Given the description of an element on the screen output the (x, y) to click on. 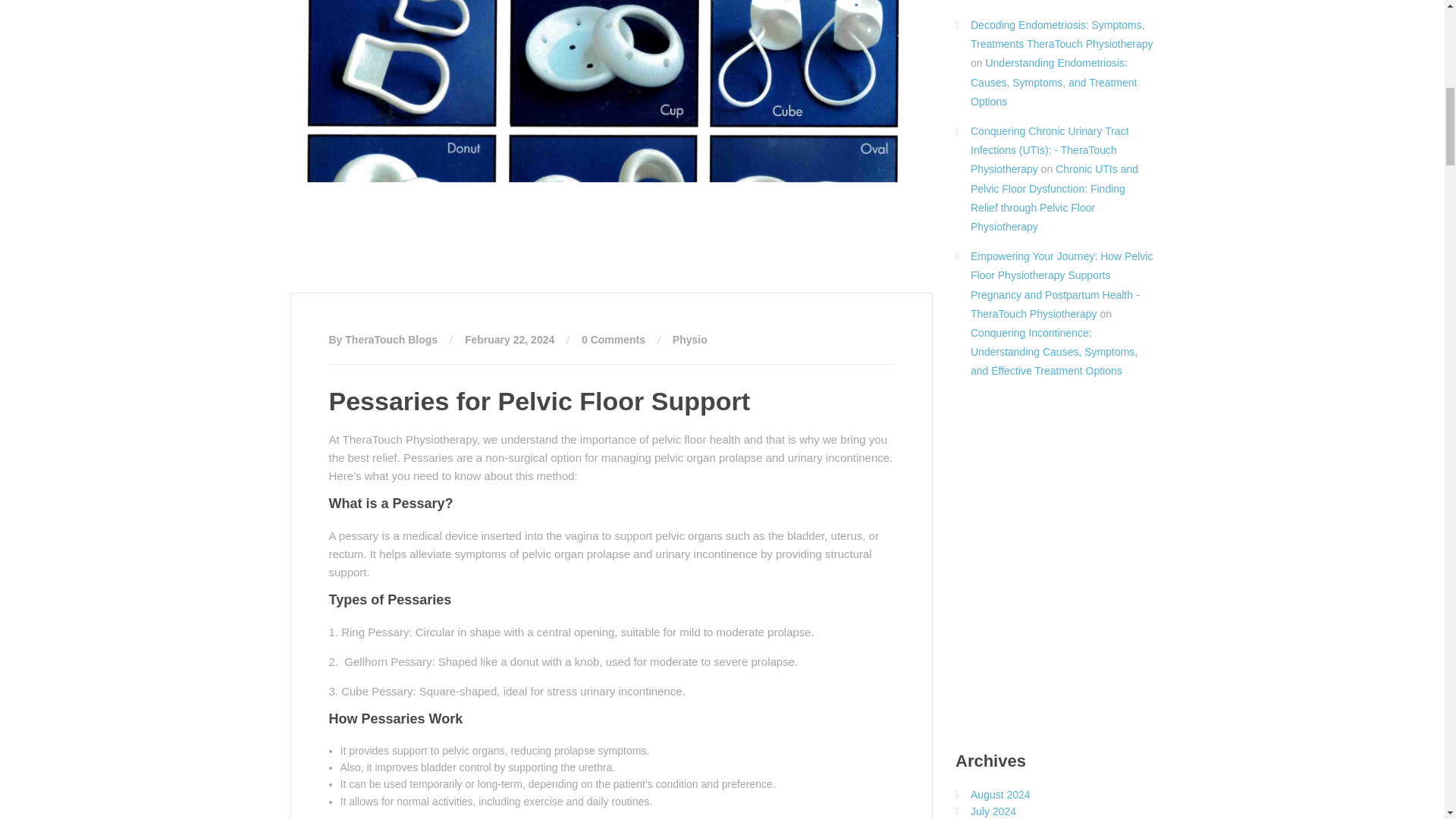
0 Comments (612, 339)
Pessaries for Pelvic Floor Support (540, 400)
Physio (689, 339)
